Given the description of an element on the screen output the (x, y) to click on. 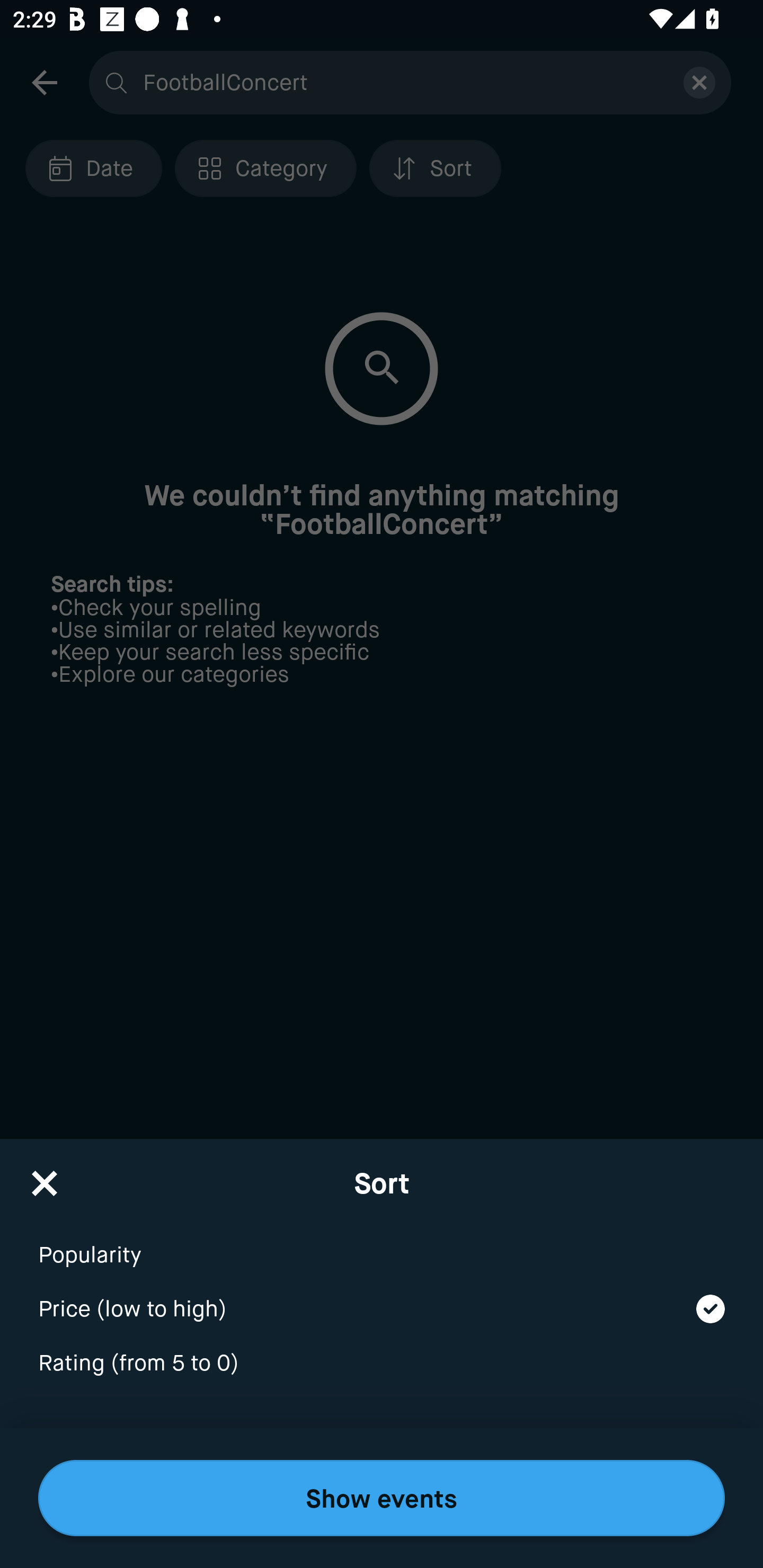
CloseButton (44, 1177)
Popularity (381, 1243)
Price (low to high) Selected Icon (381, 1297)
Rating (from 5 to 0) (381, 1362)
Show events (381, 1497)
